Given the description of an element on the screen output the (x, y) to click on. 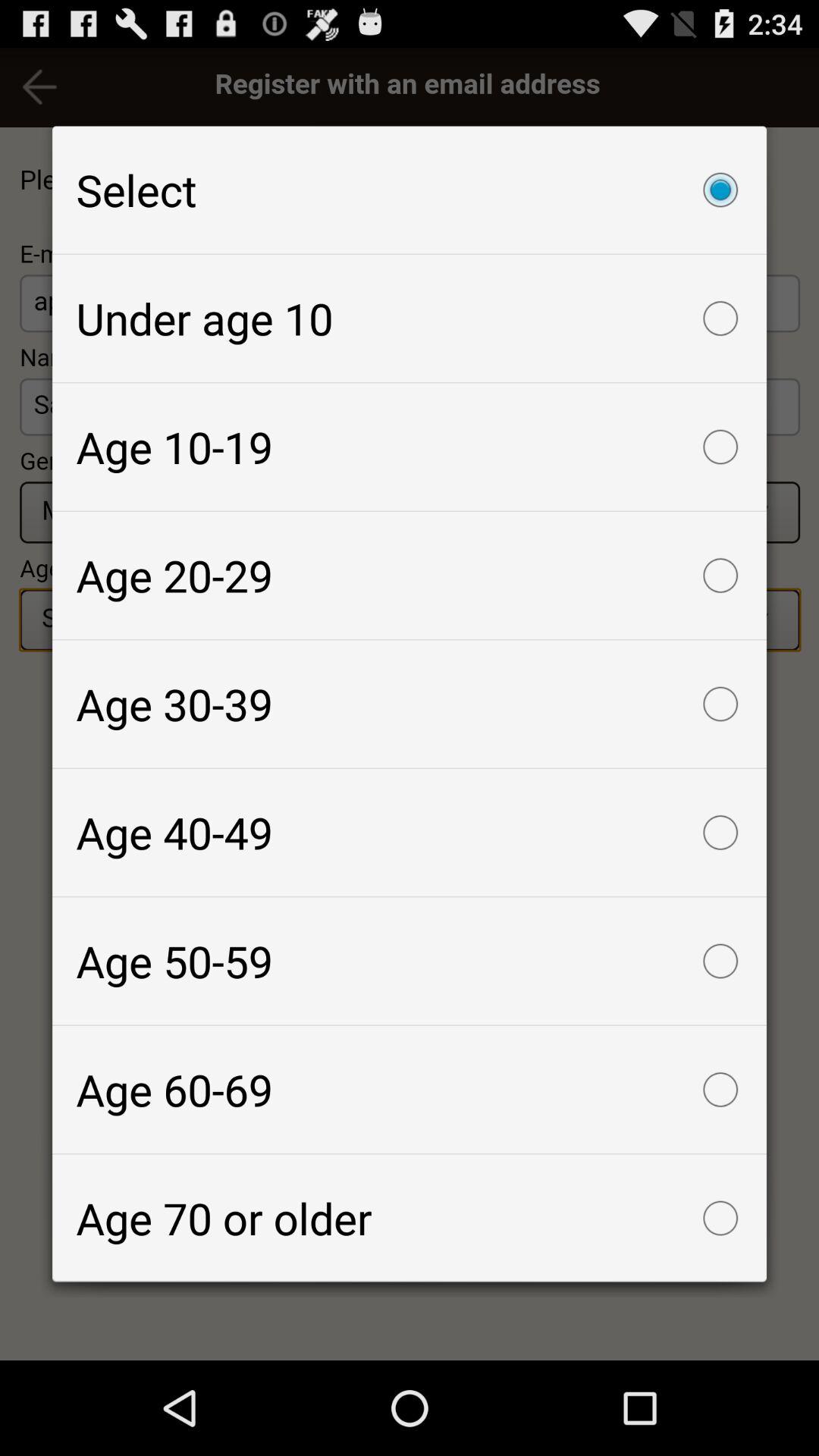
flip to age 30-39 item (409, 703)
